Given the description of an element on the screen output the (x, y) to click on. 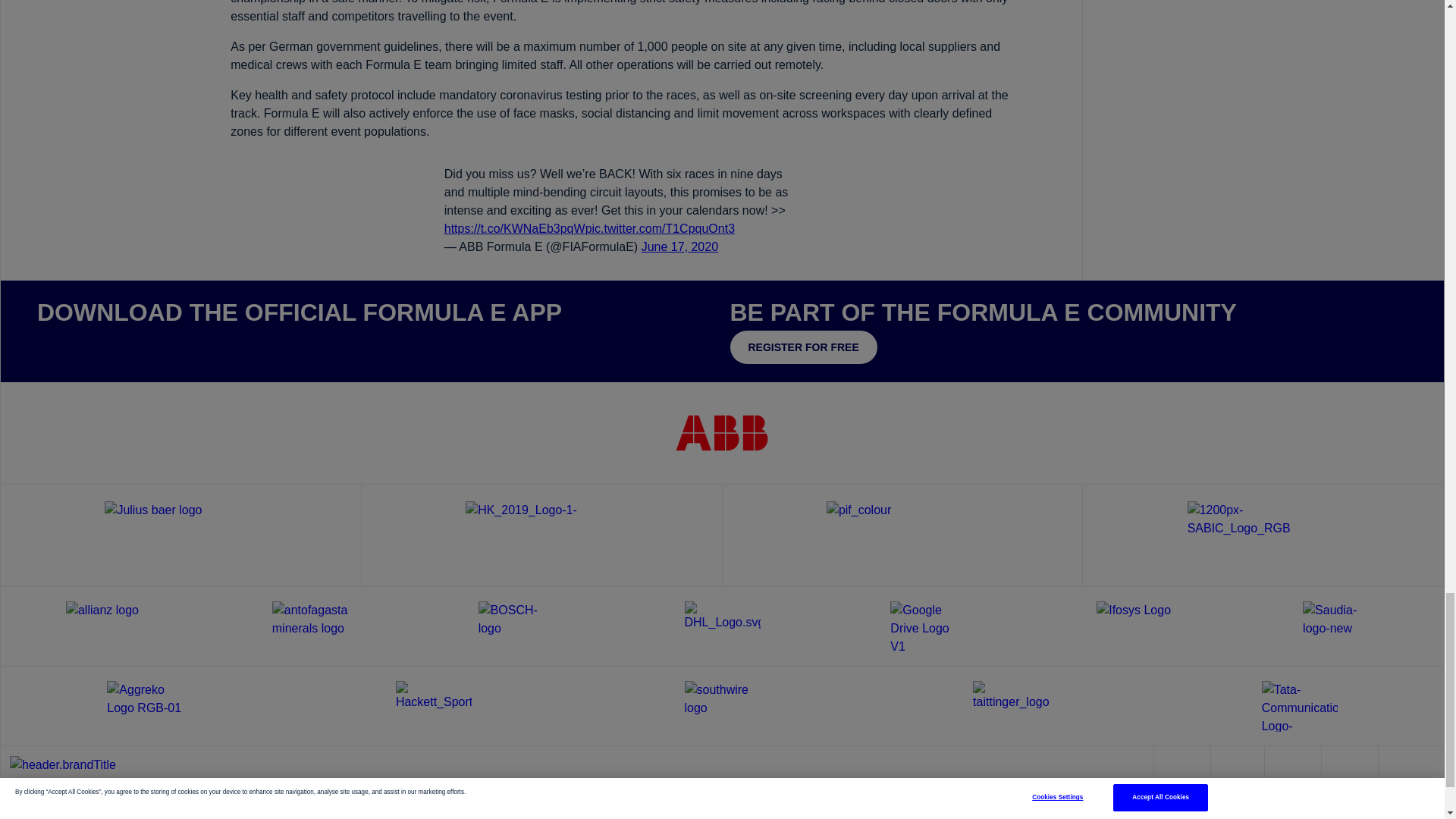
Register for free (802, 346)
Title Partner (721, 432)
Visit the Google Play Store (175, 344)
Embedded Tweet (621, 210)
Visit the App Store (81, 344)
Global Partner (180, 534)
Technical Partner (541, 534)
Public Investment Fund (902, 534)
